Given the description of an element on the screen output the (x, y) to click on. 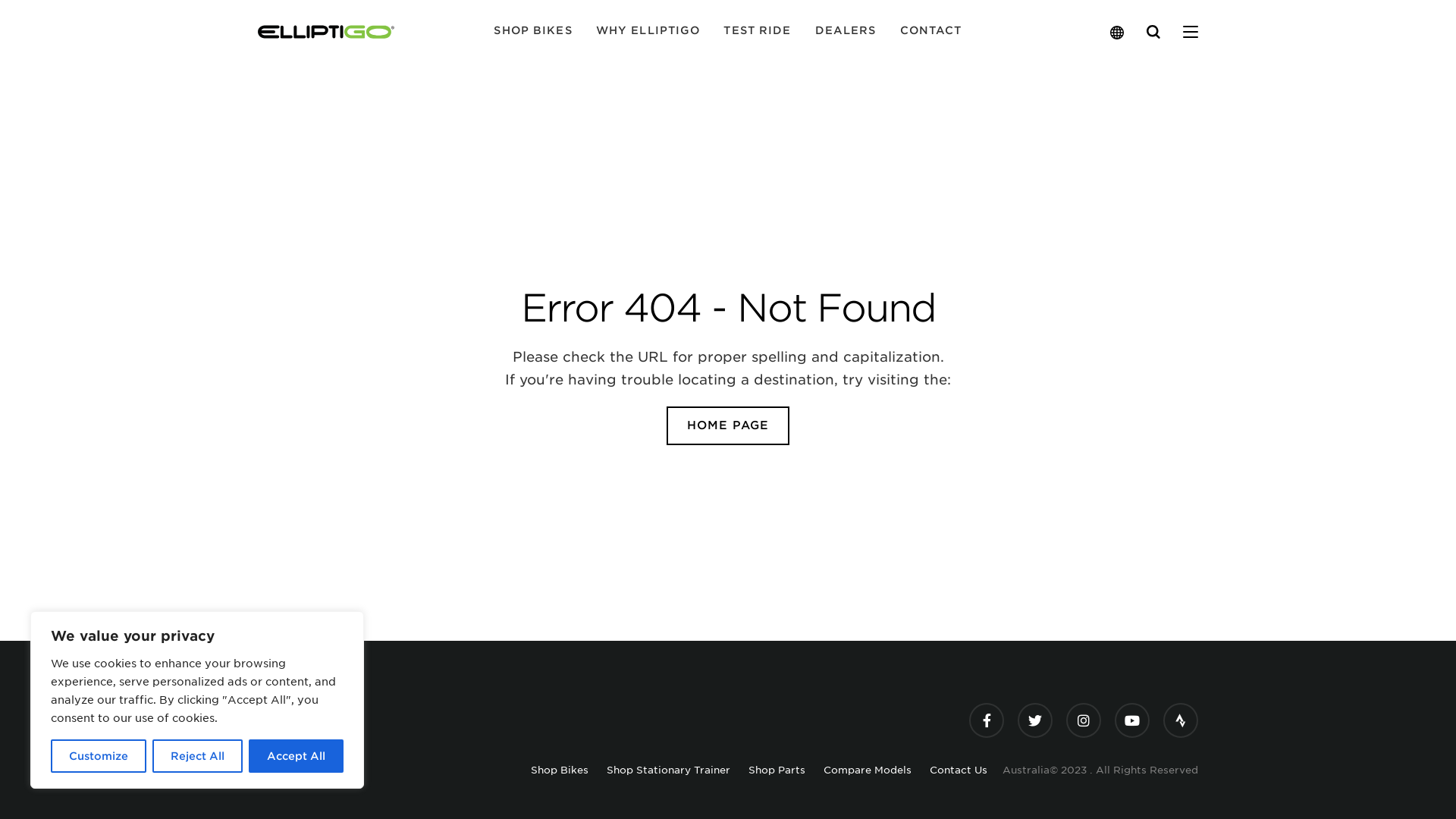
DEALERS Element type: text (845, 30)
Accept All Element type: text (295, 755)
WHY ELLIPTIGO Element type: text (648, 30)
Reject All Element type: text (197, 755)
Contact Us Element type: text (958, 769)
TEST RIDE Element type: text (756, 30)
CONTACT Element type: text (931, 30)
Shop Parts Element type: text (776, 769)
Shop Stationary Trainer Element type: text (668, 769)
SHOP BIKES Element type: text (532, 30)
Compare Models Element type: text (867, 769)
Customize Element type: text (98, 755)
HOME PAGE Element type: text (727, 425)
Shop Bikes Element type: text (559, 769)
